Given the description of an element on the screen output the (x, y) to click on. 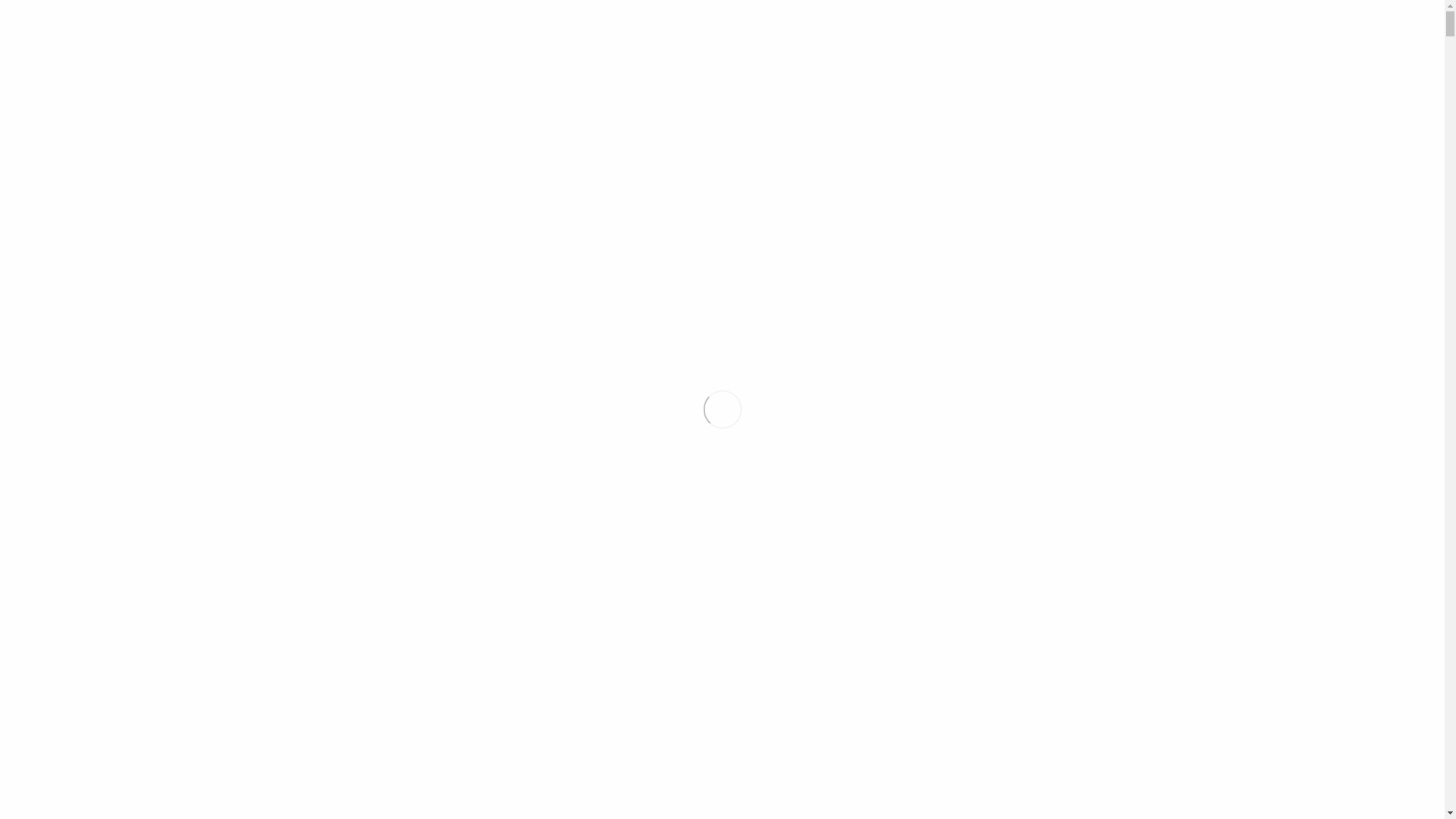
ALTRI COLORI Element type: text (921, 779)
+39 Leather Goods Element type: hover (722, 128)
WISHLIST Element type: text (921, 721)
SCONTO 10% PER ISCRIZIONE NEWSLETTER Element type: text (722, 11)
AVVISAMI SE DISPONIBILE Element type: text (921, 664)
EN Element type: text (1195, 36)
Pelletteria Element type: text (846, 326)
Home Element type: text (783, 326)
Accessori vari Element type: text (1053, 326)
IT Element type: text (1173, 36)
Spedizione in UNITED STATES Element type: text (389, 36)
Piccola pelletteria Element type: text (944, 326)
